Given the description of an element on the screen output the (x, y) to click on. 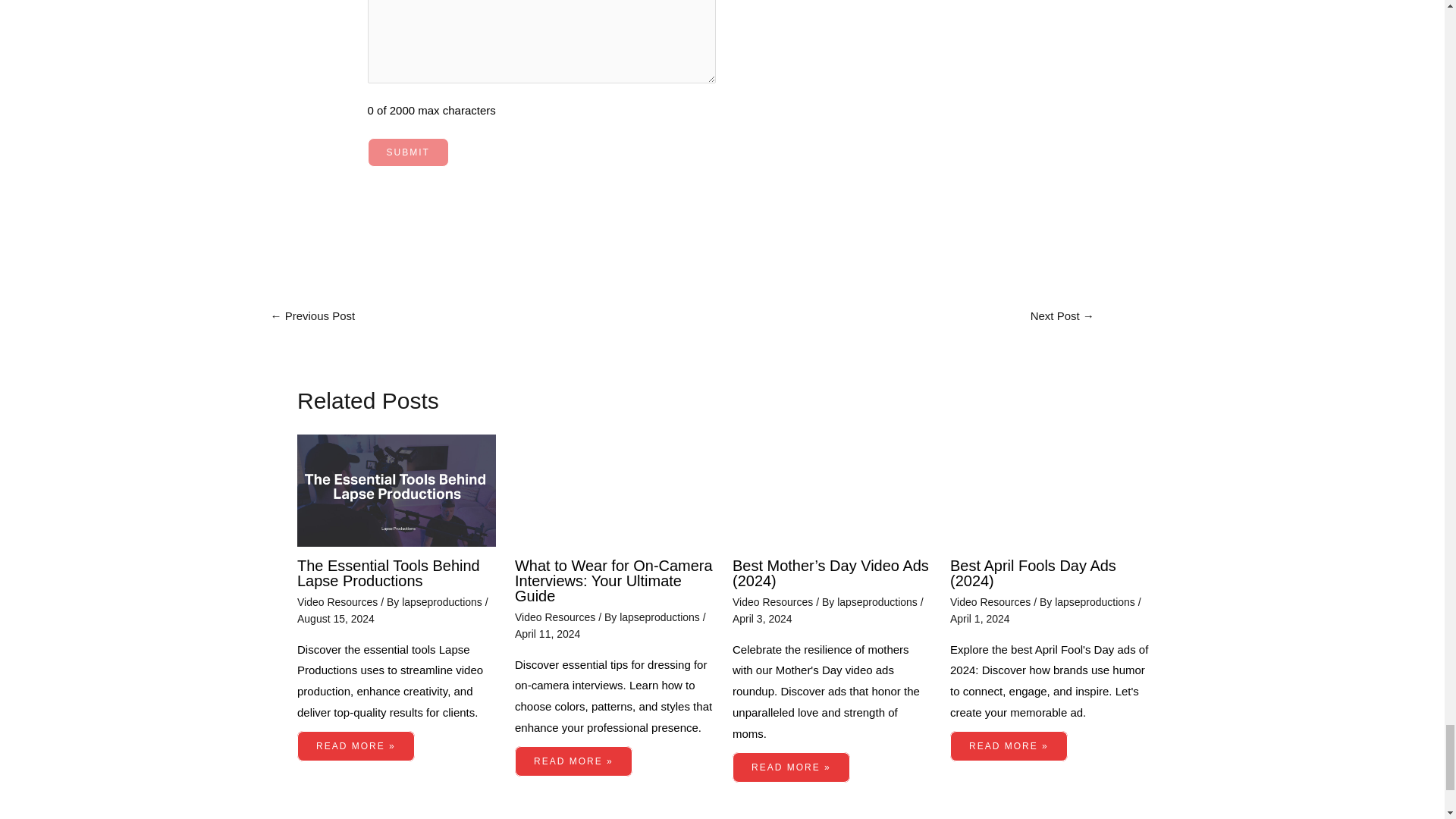
View all posts by lapseproductions (878, 602)
Submit (408, 152)
View all posts by lapseproductions (1096, 602)
View all posts by lapseproductions (442, 602)
View all posts by lapseproductions (661, 616)
